Given the description of an element on the screen output the (x, y) to click on. 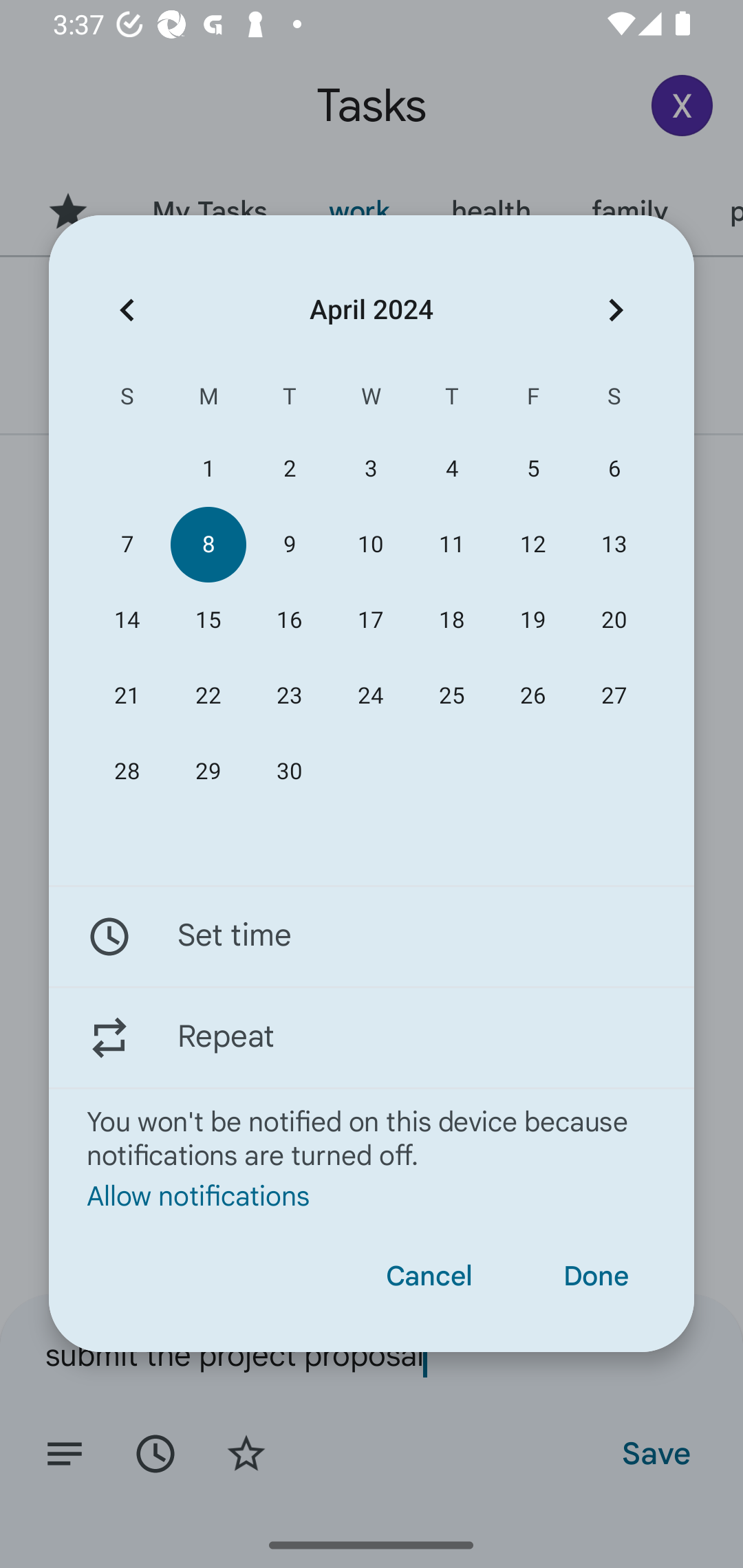
Previous month (126, 309)
Next month (615, 309)
1 01 April 2024 (207, 468)
2 02 April 2024 (288, 468)
3 03 April 2024 (370, 468)
4 04 April 2024 (451, 468)
5 05 April 2024 (532, 468)
6 06 April 2024 (613, 468)
7 07 April 2024 (126, 543)
8 08 April 2024 (207, 543)
9 09 April 2024 (288, 543)
10 10 April 2024 (370, 543)
11 11 April 2024 (451, 543)
12 12 April 2024 (532, 543)
13 13 April 2024 (613, 543)
14 14 April 2024 (126, 619)
15 15 April 2024 (207, 619)
16 16 April 2024 (288, 619)
17 17 April 2024 (370, 619)
18 18 April 2024 (451, 619)
19 19 April 2024 (532, 619)
20 20 April 2024 (613, 619)
21 21 April 2024 (126, 695)
22 22 April 2024 (207, 695)
23 23 April 2024 (288, 695)
24 24 April 2024 (370, 695)
25 25 April 2024 (451, 695)
26 26 April 2024 (532, 695)
27 27 April 2024 (613, 695)
28 28 April 2024 (126, 771)
29 29 April 2024 (207, 771)
30 30 April 2024 (288, 771)
Set time (371, 936)
Repeat (371, 1036)
Allow notifications (371, 1195)
Cancel (429, 1275)
Done (595, 1275)
